Given the description of an element on the screen output the (x, y) to click on. 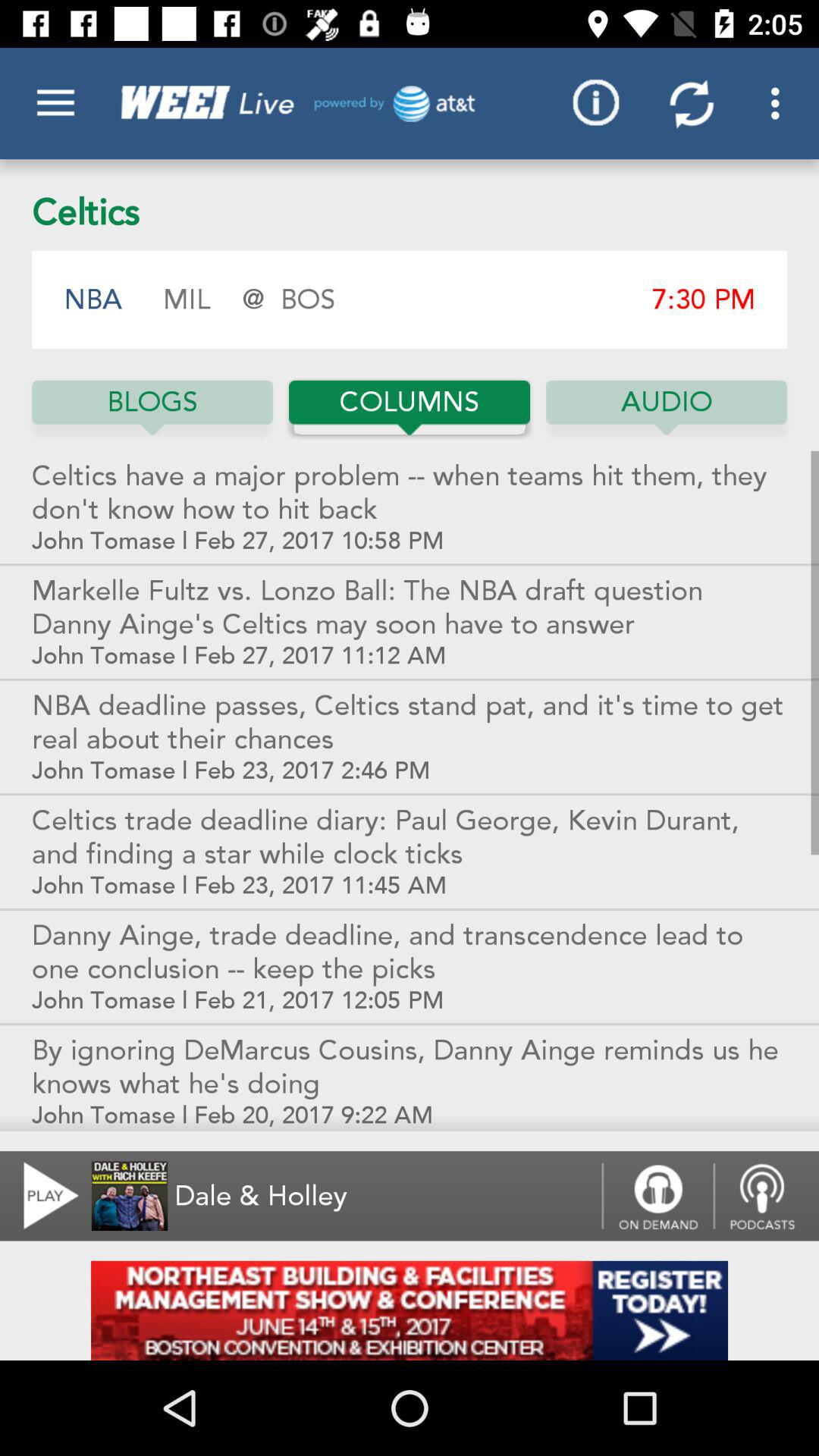
advertisement for event (409, 1310)
